Given the description of an element on the screen output the (x, y) to click on. 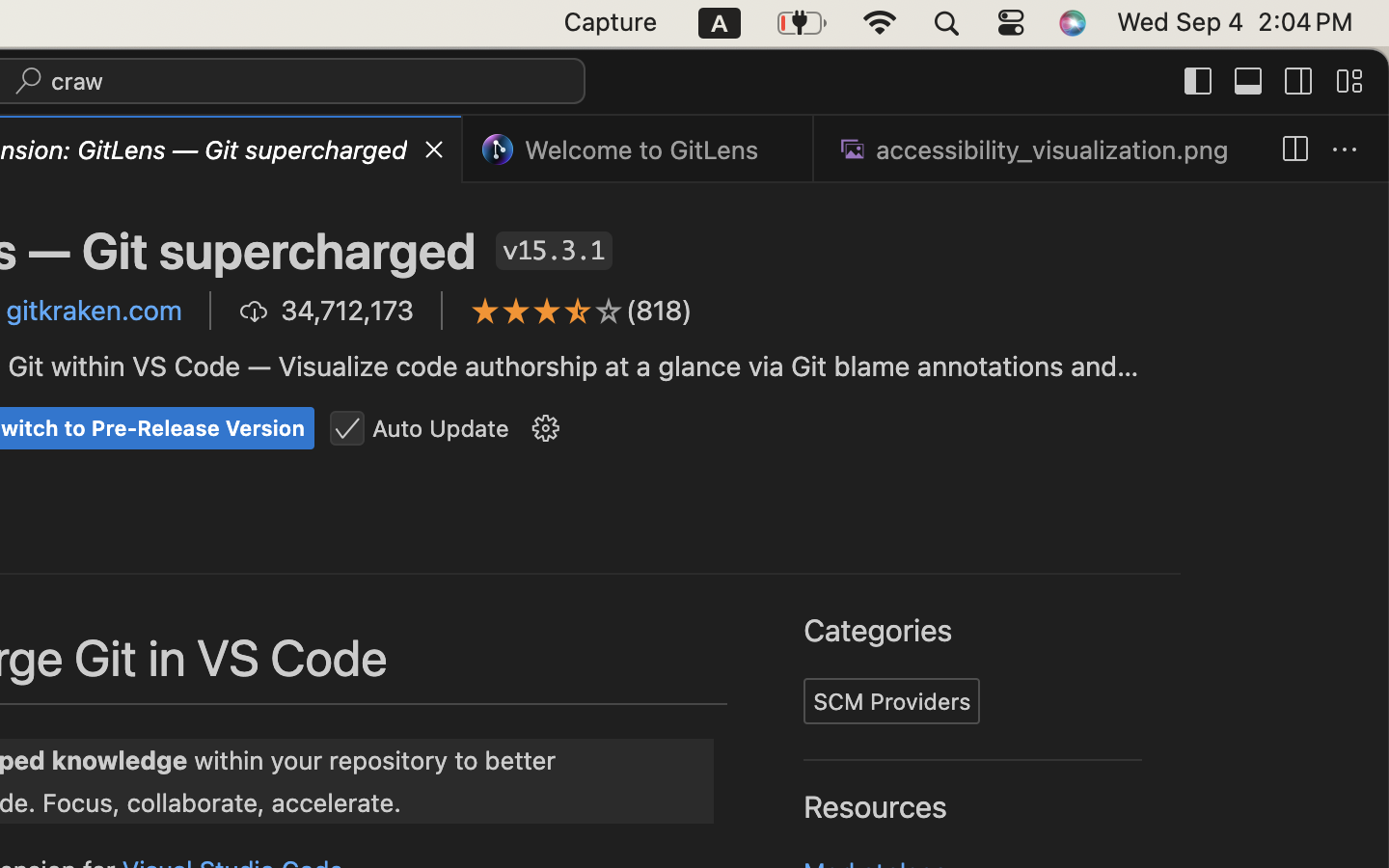
understand Element type: AXStaticText (457, 360)
Auto Update Element type: AXStaticText (440, 428)
 Element type: AXStaticText (1344, 150)
 Element type: AXButton (545, 428)
(818) Element type: AXStaticText (659, 310)
